Given the description of an element on the screen output the (x, y) to click on. 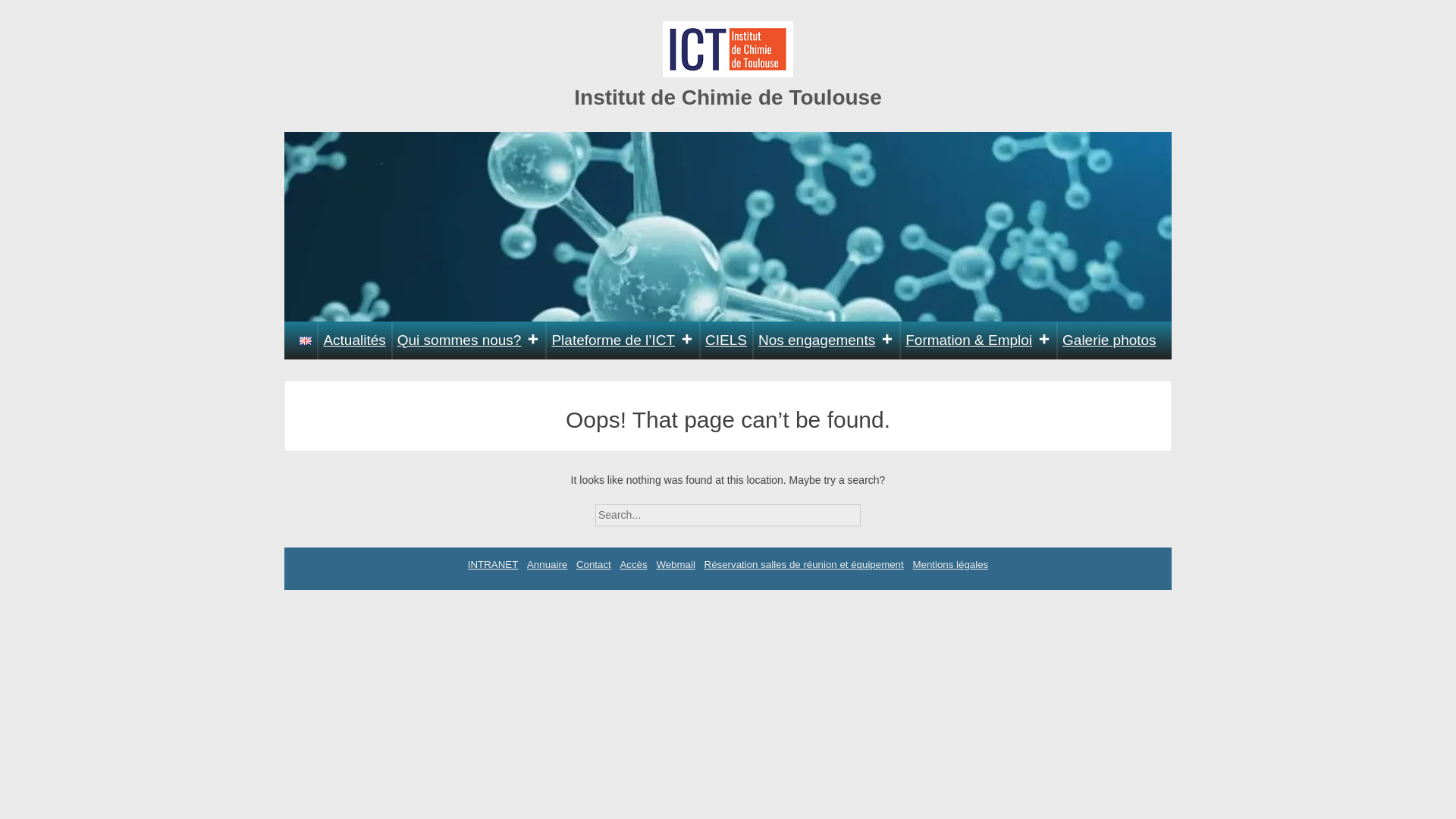
Search (873, 509)
Nos engagements (825, 340)
CIELS (726, 340)
Search (873, 509)
Institut de Chimie de Toulouse (727, 97)
Qui sommes nous? (468, 340)
